Given the description of an element on the screen output the (x, y) to click on. 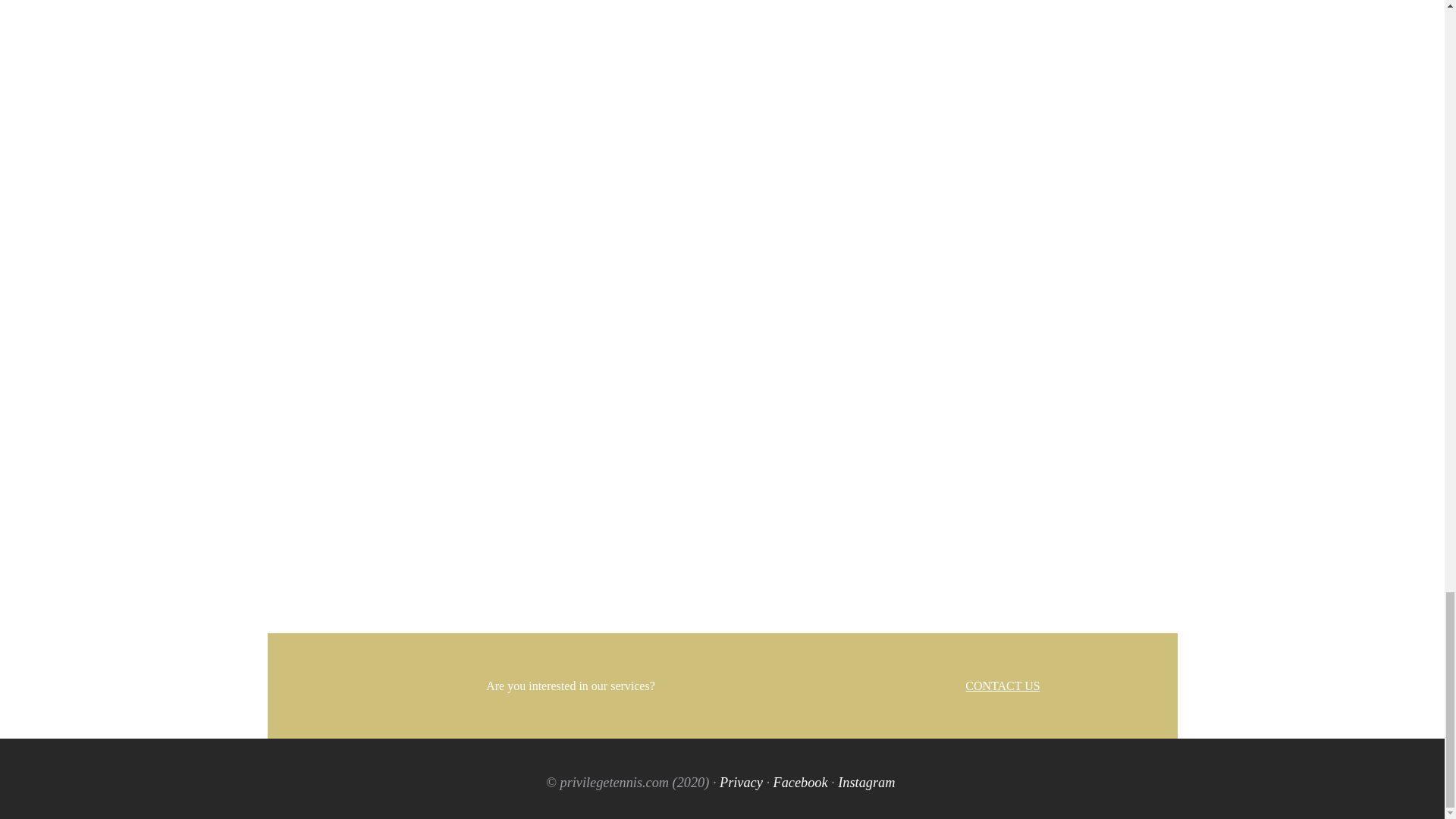
Instagram (866, 782)
CONTACT US (1002, 685)
Privacy (740, 782)
Facebook (800, 782)
